Given the description of an element on the screen output the (x, y) to click on. 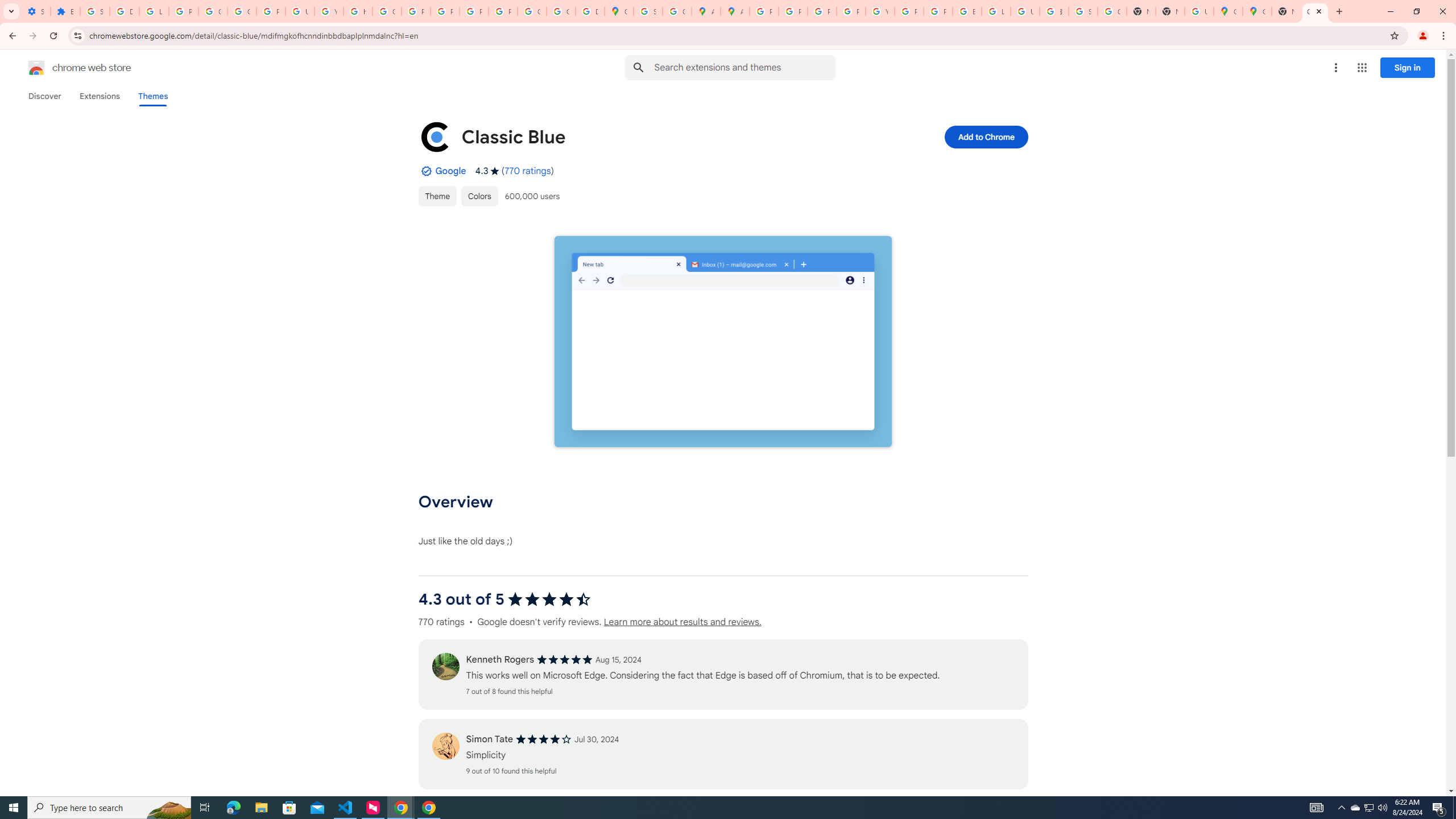
Google Account Help (212, 11)
New Tab (1169, 11)
https://scholar.google.com/ (357, 11)
Use Google Maps in Space - Google Maps Help (1198, 11)
Settings - On startup (35, 11)
Item logo image for Classic Blue (434, 136)
Colors (479, 195)
